Given the description of an element on the screen output the (x, y) to click on. 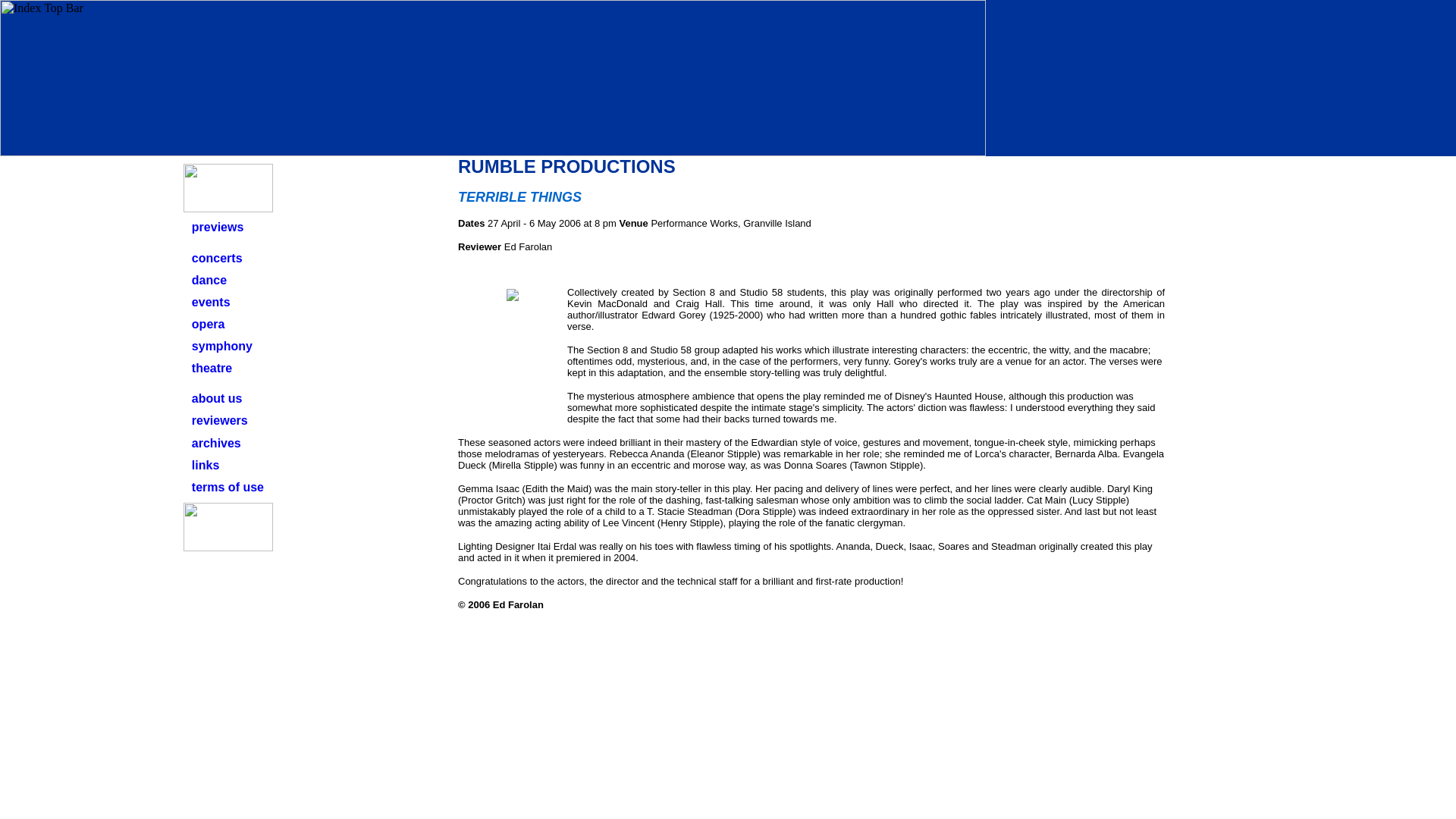
symphony (221, 345)
theatre (211, 367)
about us (217, 398)
archives (216, 442)
concerts (217, 257)
opera (208, 323)
previews (217, 226)
terms of use (227, 486)
events (211, 301)
links (205, 464)
reviewers (219, 420)
dance (209, 279)
